Given the description of an element on the screen output the (x, y) to click on. 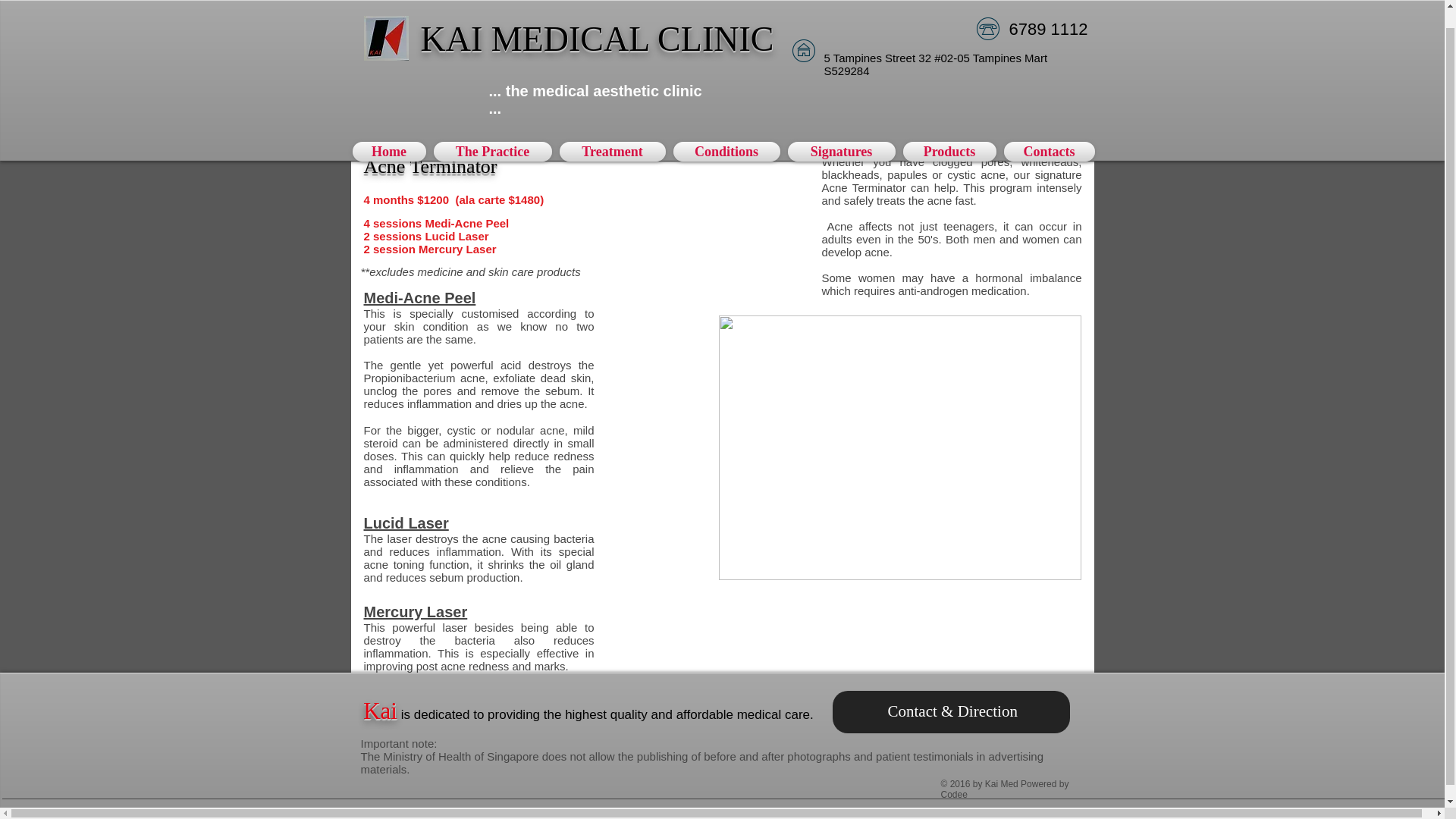
KAI MEDICAL CLINIC (597, 20)
Lucid Laser (406, 523)
The Practice (491, 133)
Conditions (725, 133)
Home (390, 133)
Contacts (1046, 133)
Signatures (841, 133)
Products (949, 133)
Mercury Laser (415, 611)
